Given the description of an element on the screen output the (x, y) to click on. 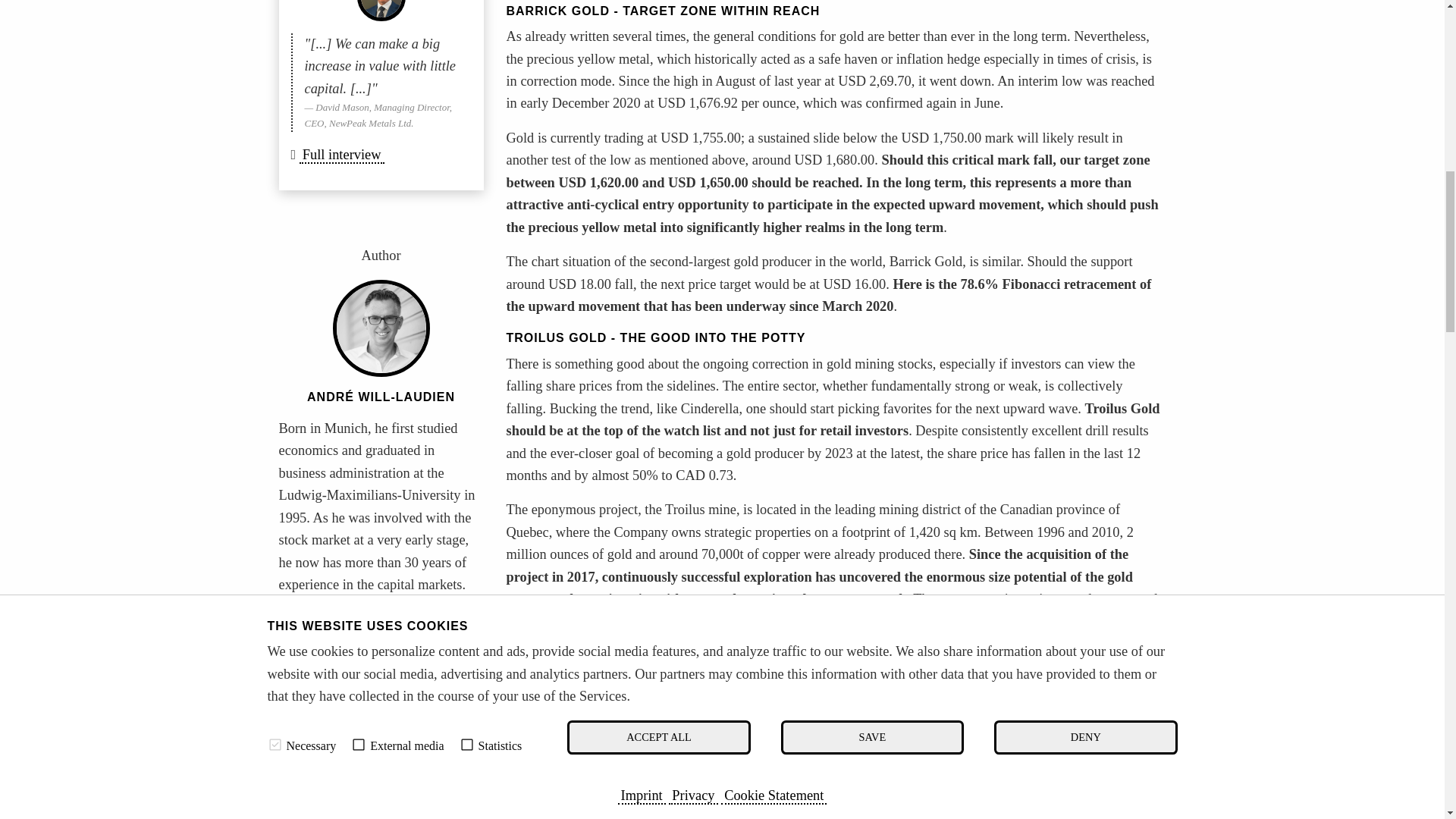
Full interview (341, 155)
CHIPS (403, 738)
COMMODITIES (328, 706)
David Mason, Managing Director, CEO, NewPeak Metals Ltd. (380, 10)
About the author (329, 619)
MINING (310, 691)
TUNGSTEN (320, 754)
FINTECH (407, 723)
REALESTATE (324, 723)
DIGITIZATION (325, 738)
